Given the description of an element on the screen output the (x, y) to click on. 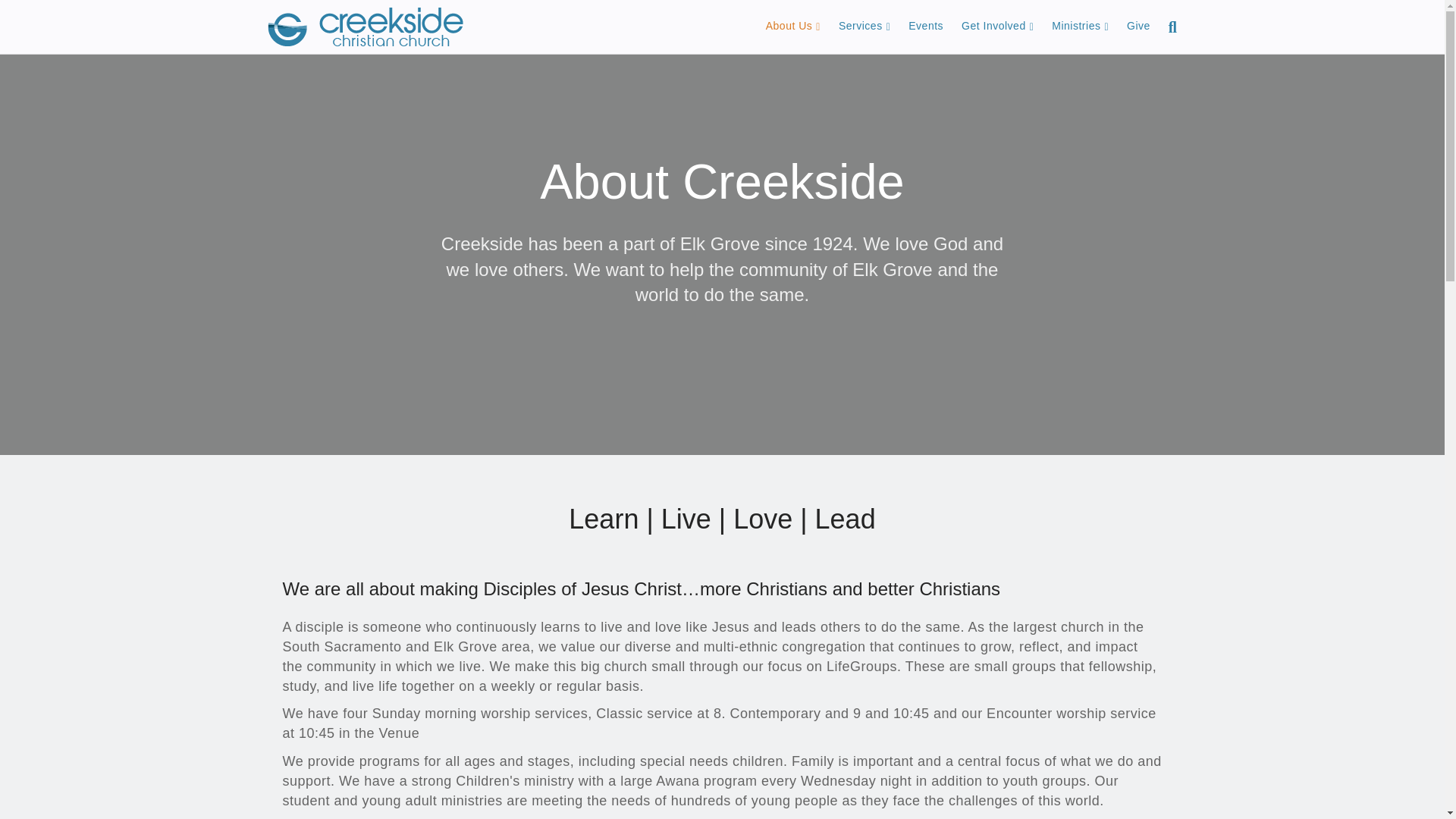
Give (1138, 26)
About Us (793, 26)
Get Involved (997, 26)
Services (864, 26)
Events (925, 26)
Ministries (1080, 26)
